Given the description of an element on the screen output the (x, y) to click on. 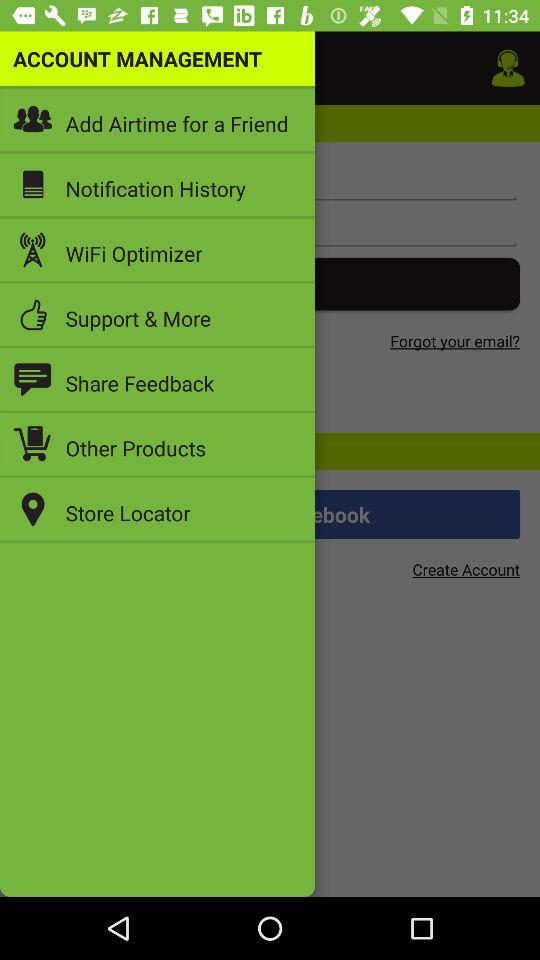
select the last line of the page (269, 513)
